Given the description of an element on the screen output the (x, y) to click on. 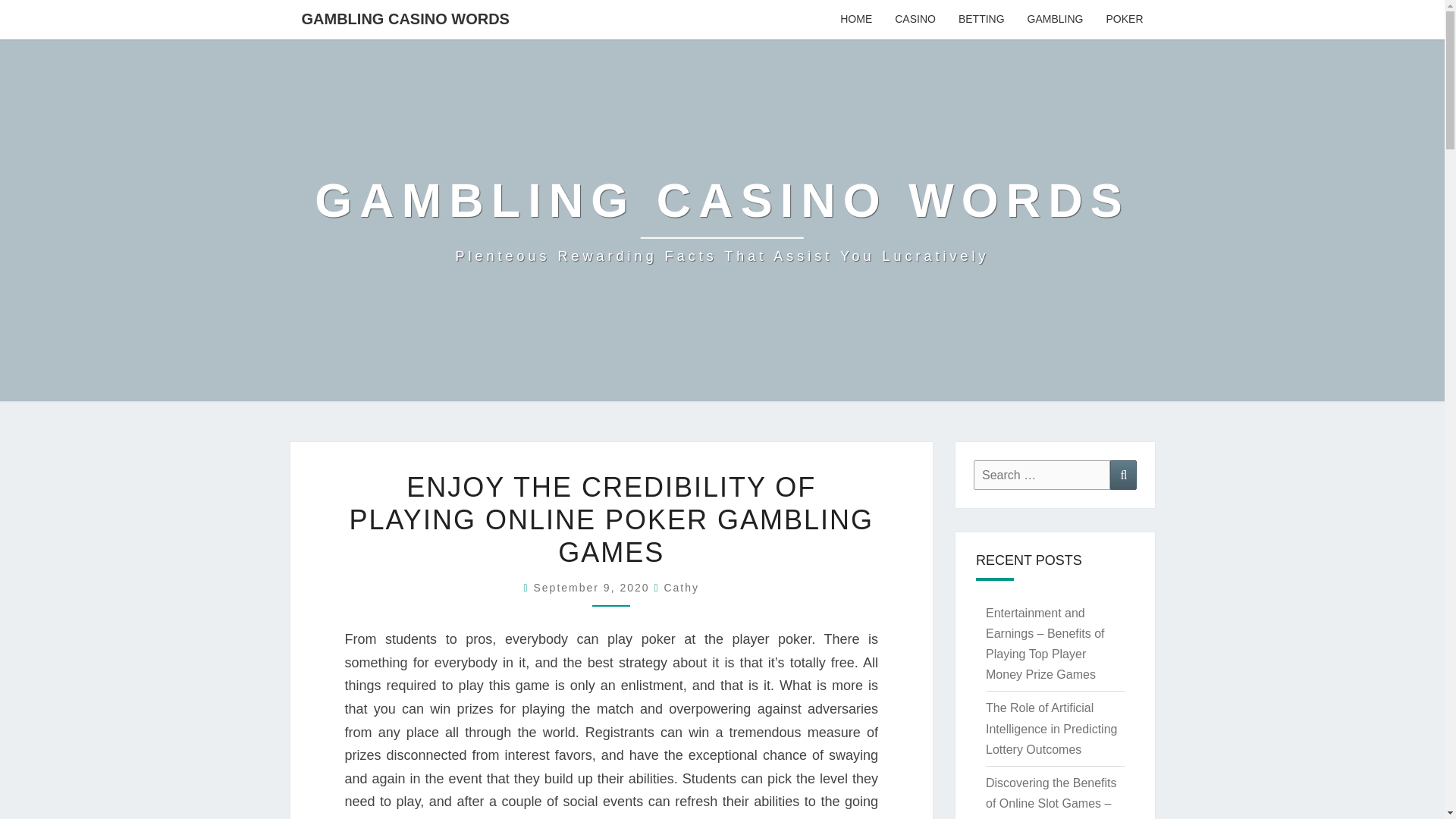
Gambling casino words (721, 219)
GAMBLING CASINO WORDS (404, 18)
HOME (855, 19)
POKER (1124, 19)
Cathy (680, 587)
CASINO (915, 19)
September 9, 2020 (592, 587)
Search for: (1041, 474)
7:36 am (592, 587)
BETTING (981, 19)
View all posts by Cathy (680, 587)
Search (1123, 474)
GAMBLING (1055, 19)
